Given the description of an element on the screen output the (x, y) to click on. 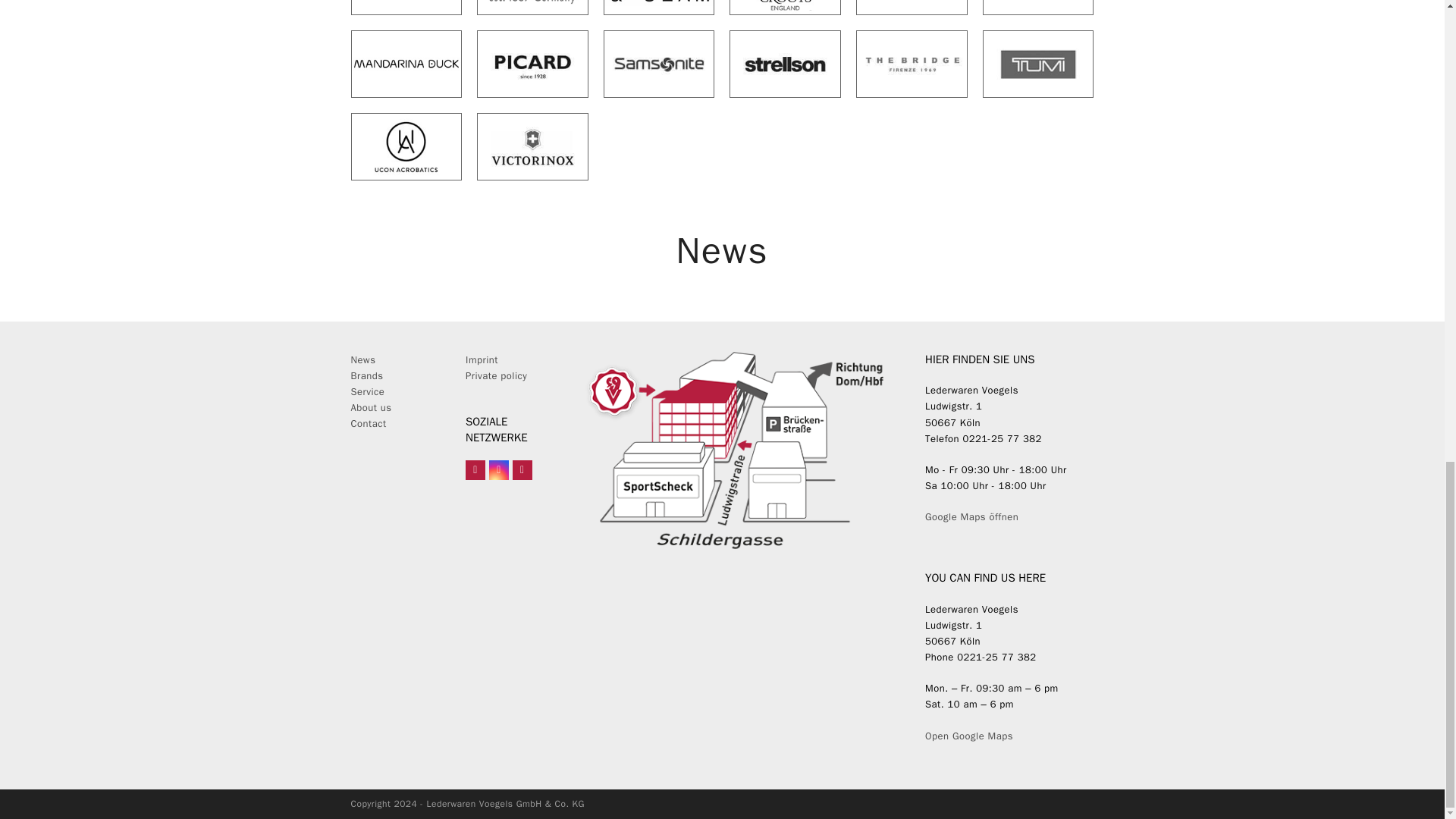
YouTube (522, 469)
News (362, 359)
YouTube (522, 469)
Brands (366, 375)
Instagram (498, 469)
Brands (396, 375)
Service (367, 391)
Facebook (474, 469)
Private policy (496, 375)
About us (370, 407)
